Given the description of an element on the screen output the (x, y) to click on. 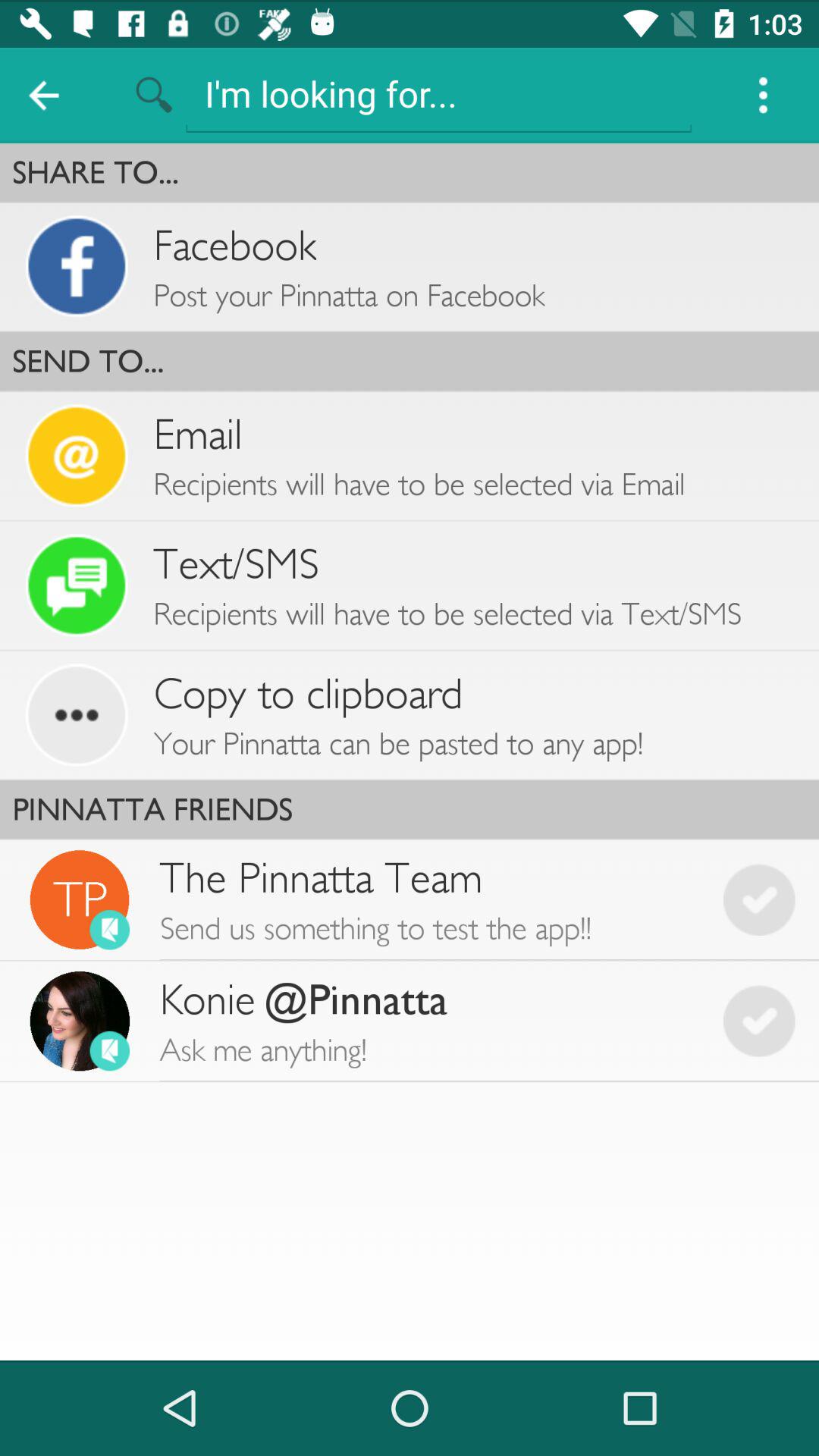
tap pinnatta friends item (409, 809)
